Given the description of an element on the screen output the (x, y) to click on. 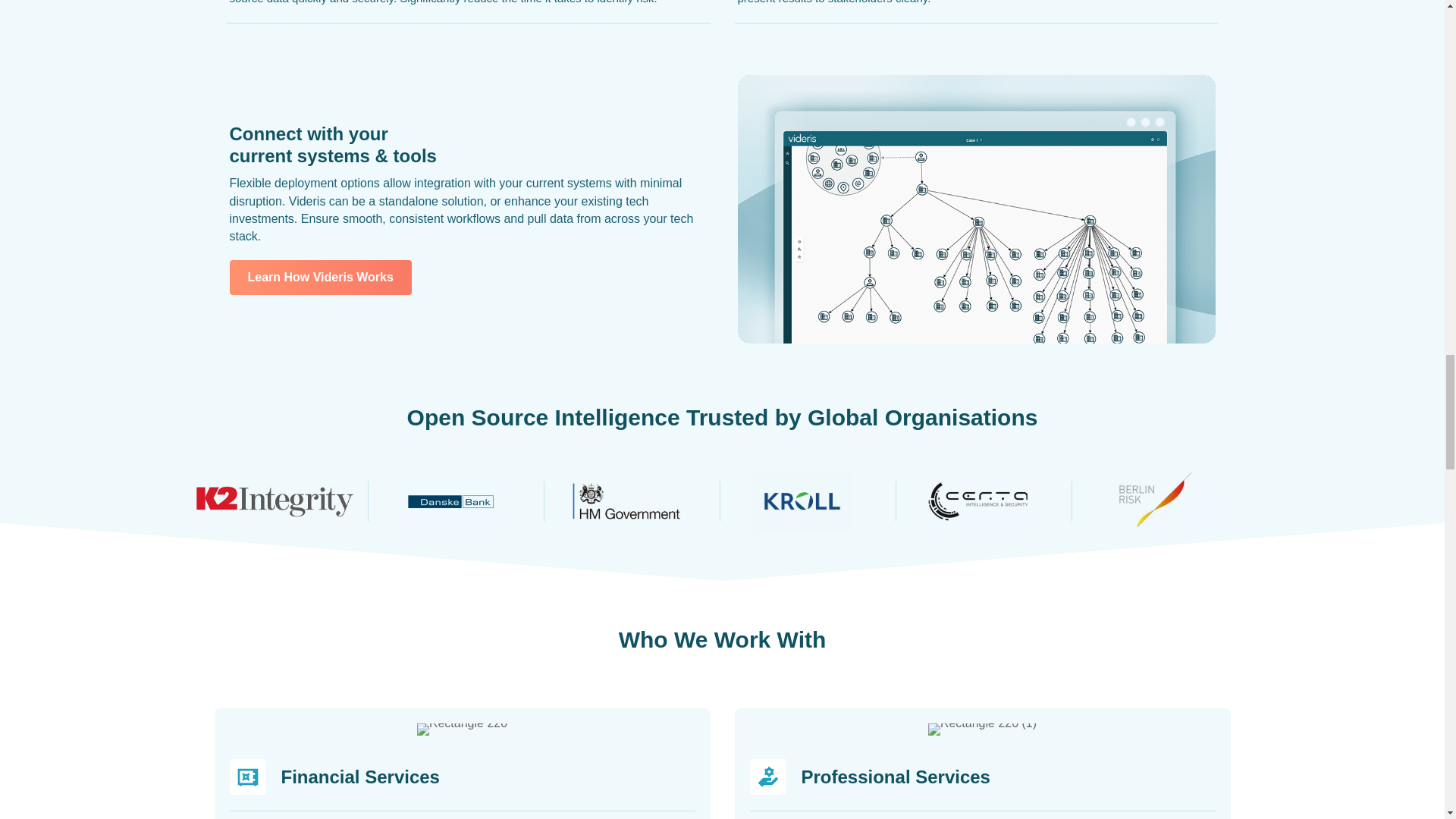
corporate hierarchy (975, 209)
Rectangle 220 (461, 729)
